Given the description of an element on the screen output the (x, y) to click on. 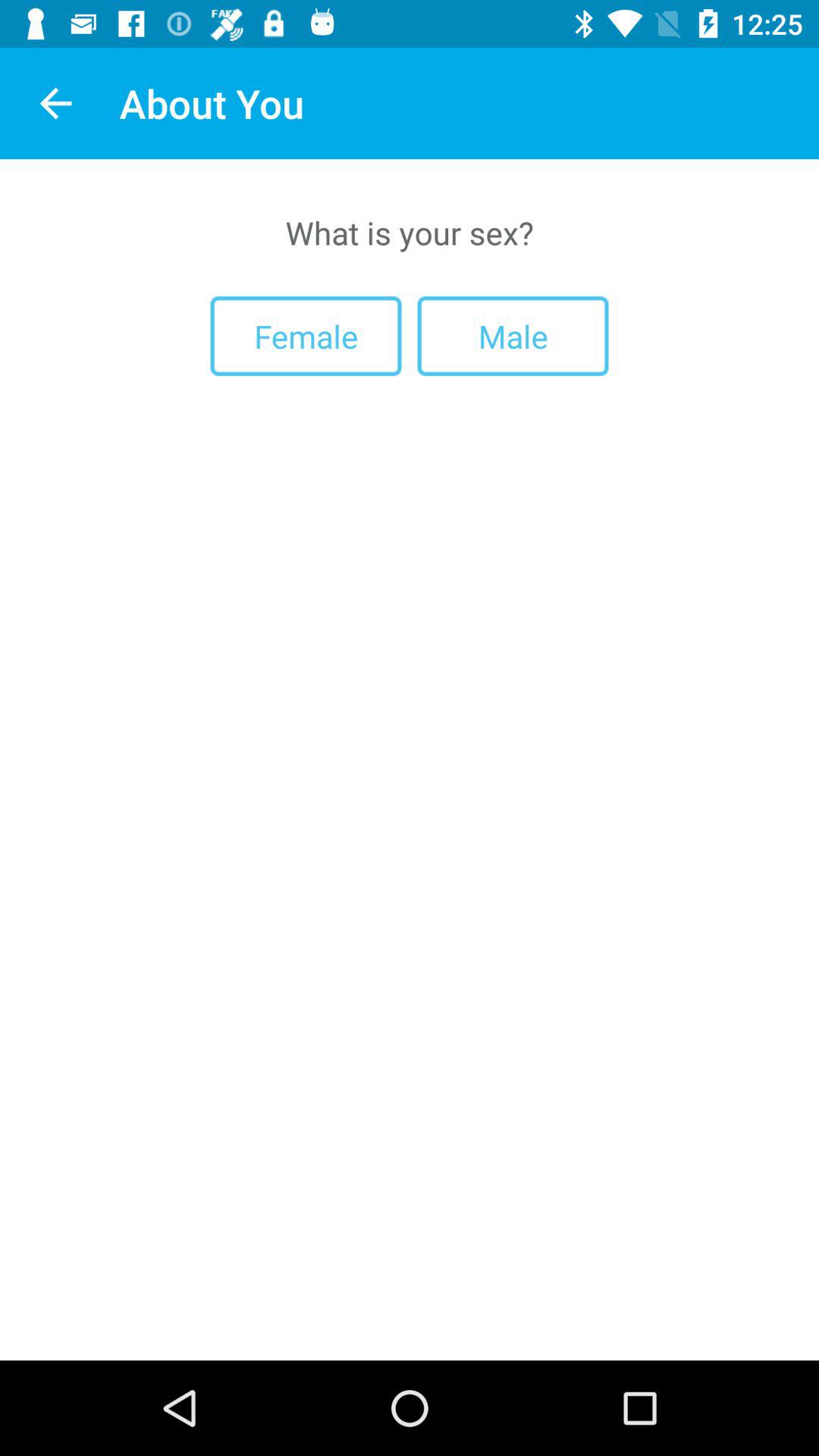
turn off the item to the left of the male (305, 335)
